Given the description of an element on the screen output the (x, y) to click on. 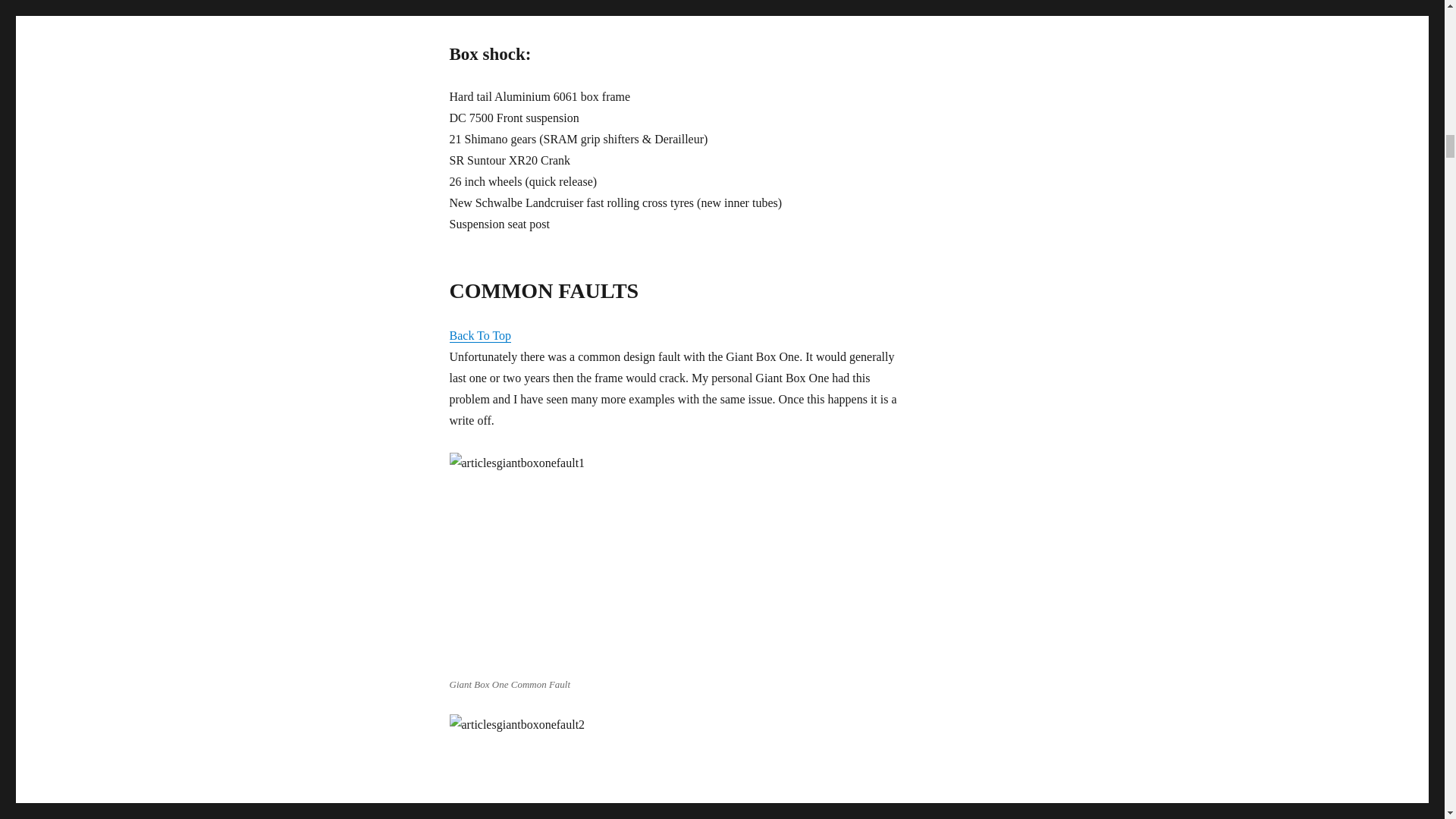
Back To Top (479, 335)
